Given the description of an element on the screen output the (x, y) to click on. 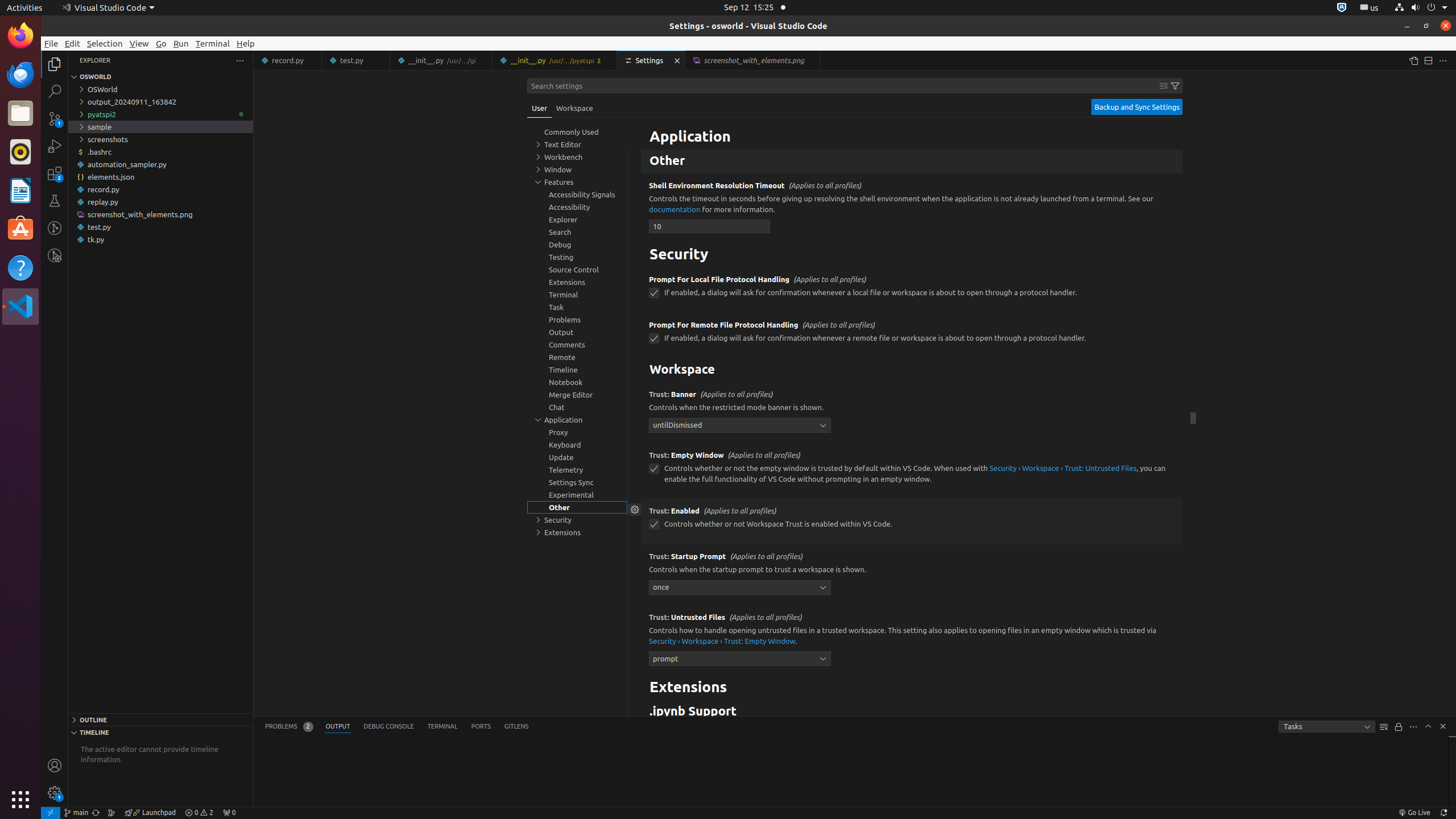
Accessibility, group Element type: tree-item (577, 206)
Outline Section Element type: push-button (160, 719)
Task, group Element type: tree-item (577, 306)
Timeline, group Element type: tree-item (577, 369)
